Given the description of an element on the screen output the (x, y) to click on. 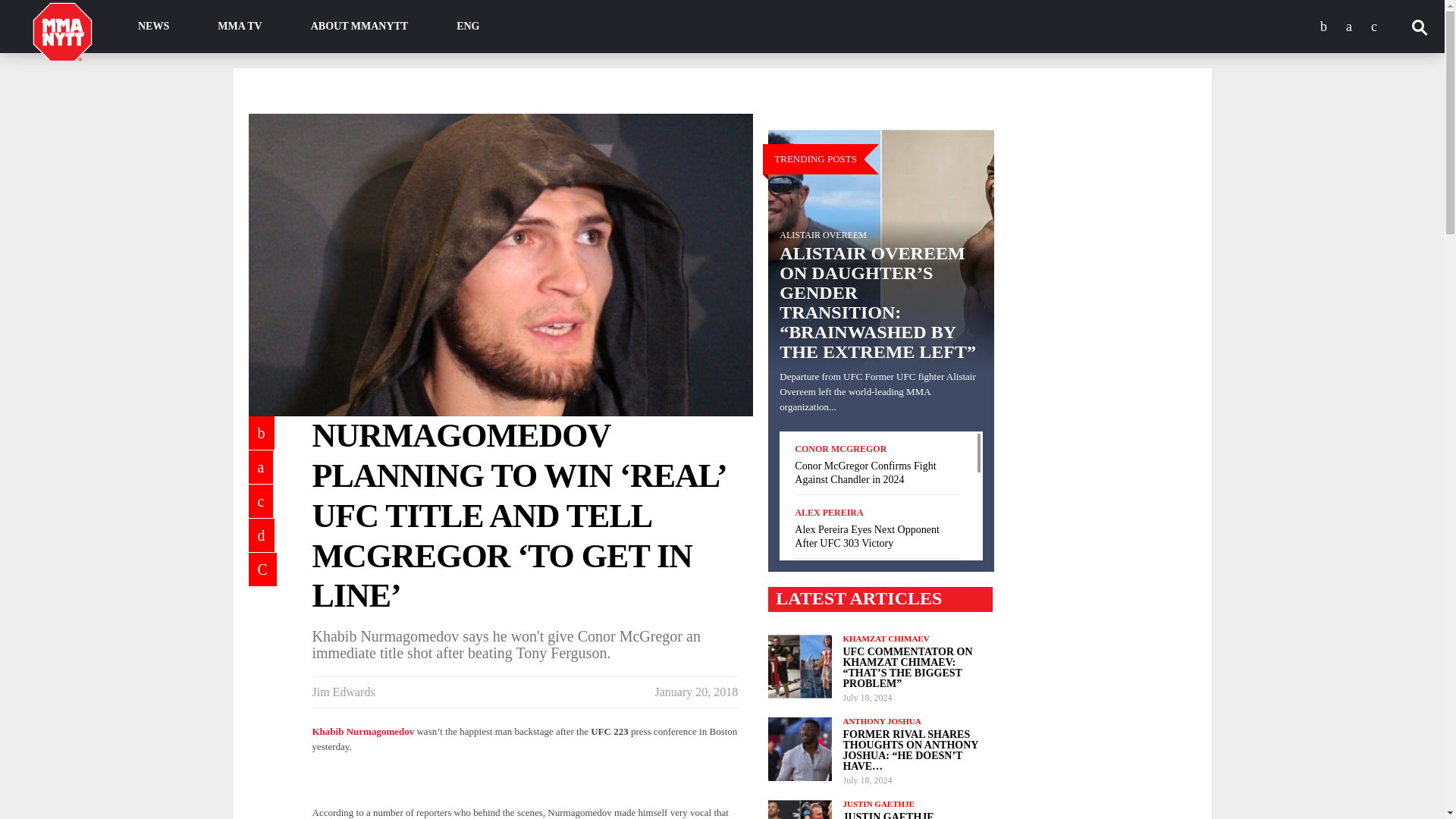
ENG (467, 26)
MMA TV (239, 26)
News (153, 26)
MMA TV (239, 26)
Posts by Jim Edwards (344, 691)
About MMAnytt (359, 26)
Khabib Nurmagomedov (363, 731)
ENG (467, 26)
ABOUT MMANYTT (359, 26)
Jim Edwards (344, 691)
NEWS (153, 26)
